Given the description of an element on the screen output the (x, y) to click on. 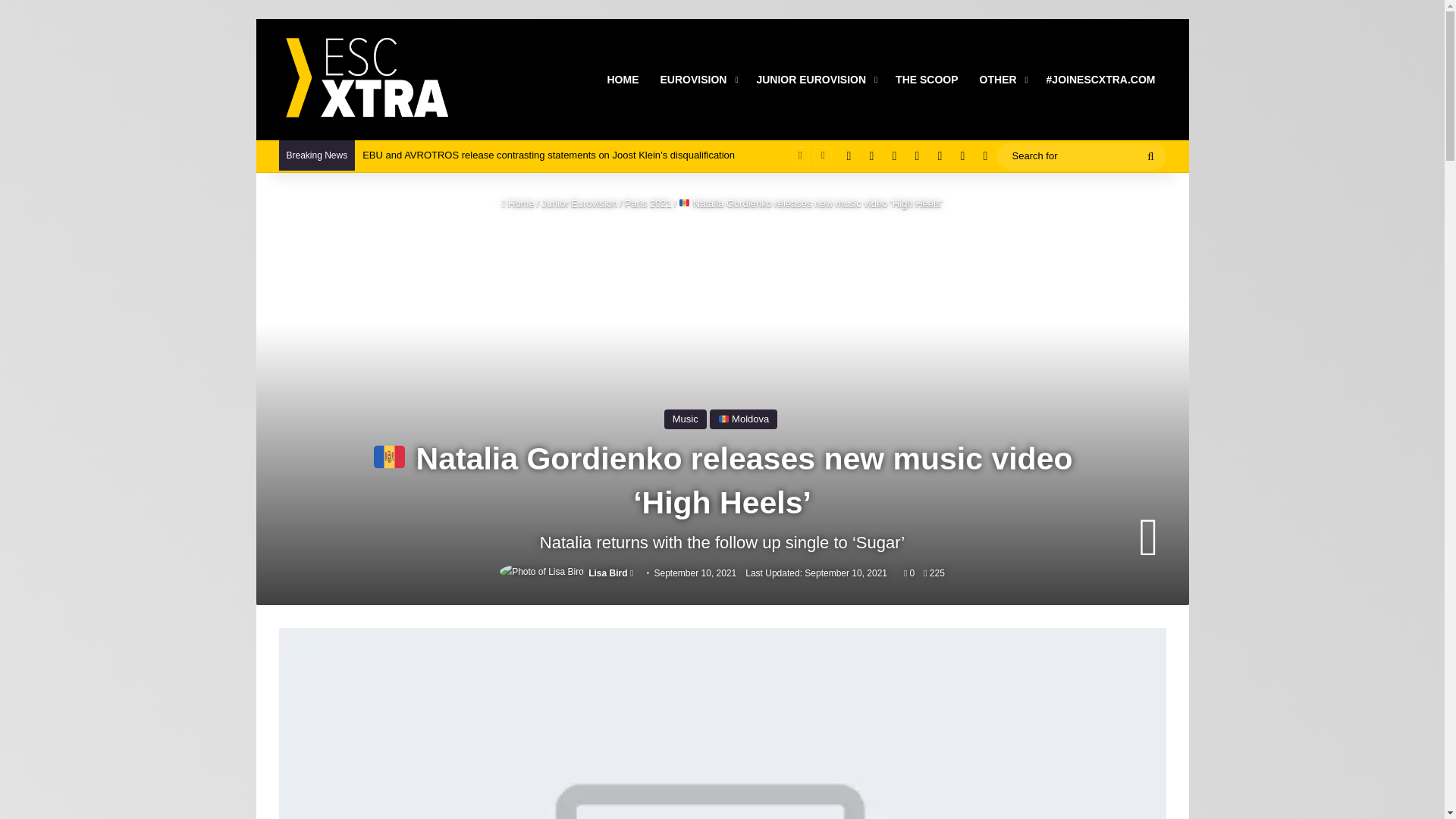
Paris 2021 (647, 203)
ESCXTRA.com (365, 79)
JUNIOR EUROVISION (815, 79)
Home (518, 203)
Lisa Bird (607, 573)
Junior Eurovision (579, 203)
Lisa Bird (607, 573)
Search for (1080, 155)
Moldova (743, 419)
Search for (1150, 155)
